Given the description of an element on the screen output the (x, y) to click on. 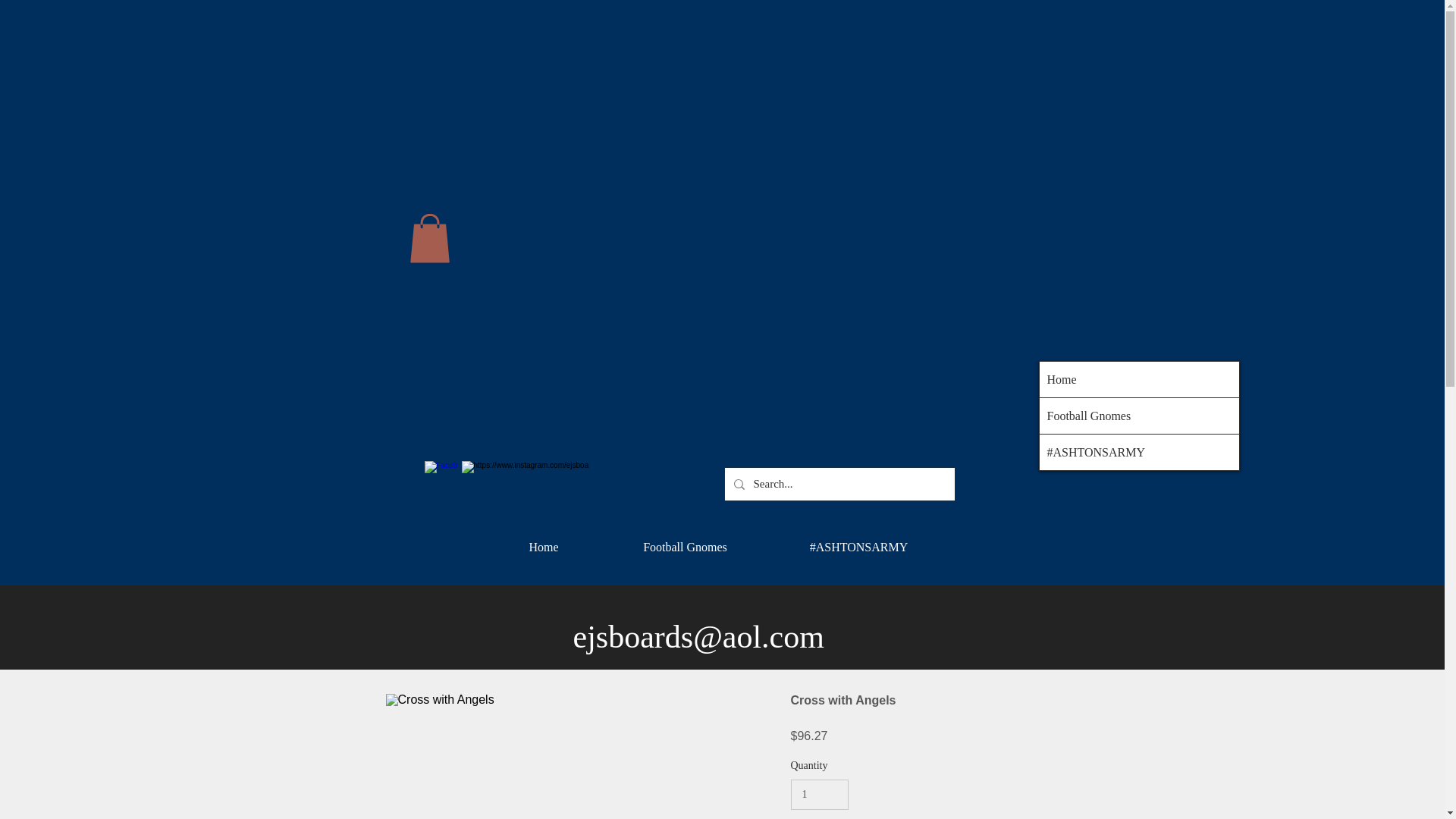
1 (818, 794)
Football Gnomes (1139, 416)
Home (1139, 379)
Home (542, 540)
